Given the description of an element on the screen output the (x, y) to click on. 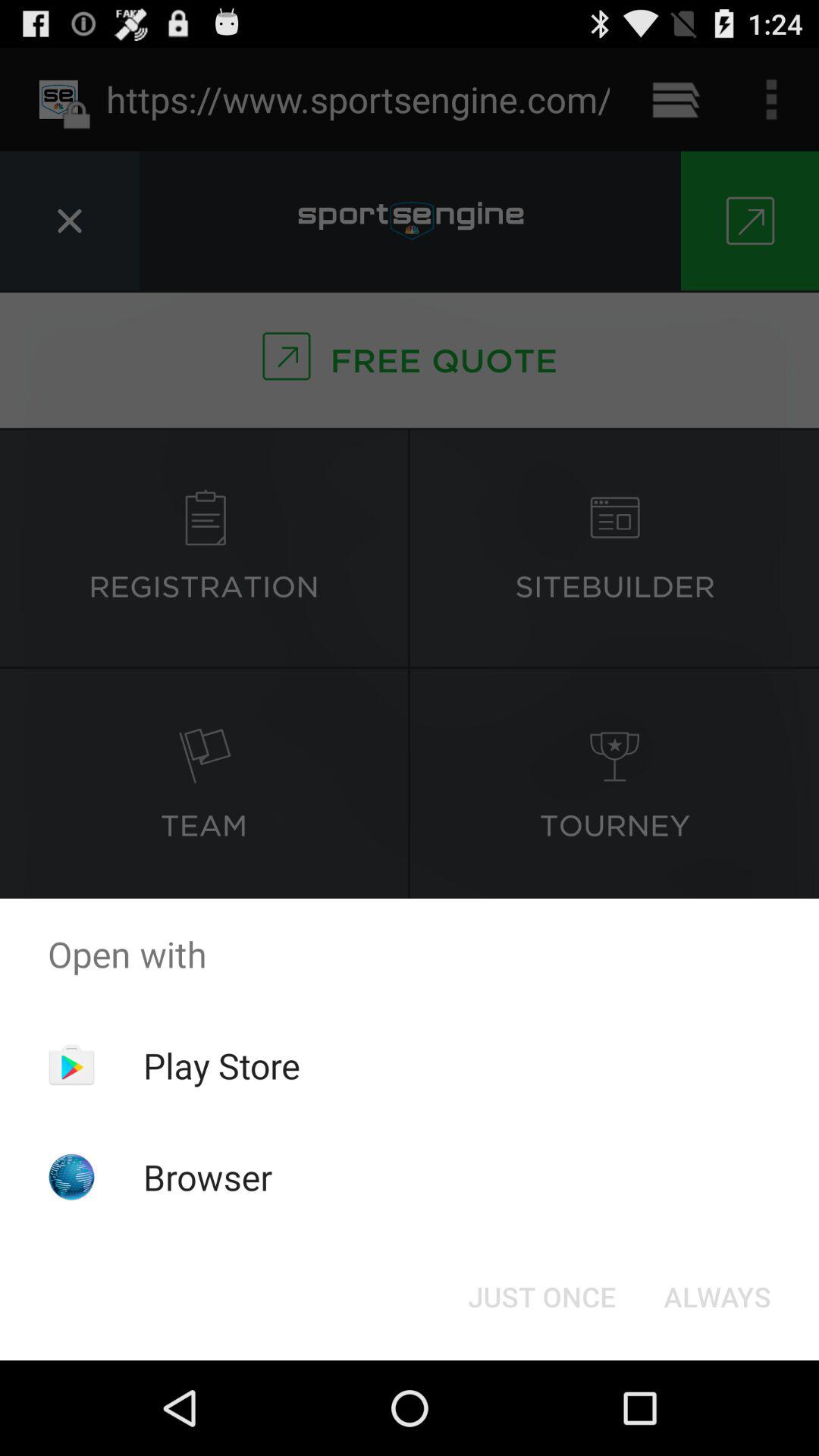
tap the always item (717, 1296)
